Given the description of an element on the screen output the (x, y) to click on. 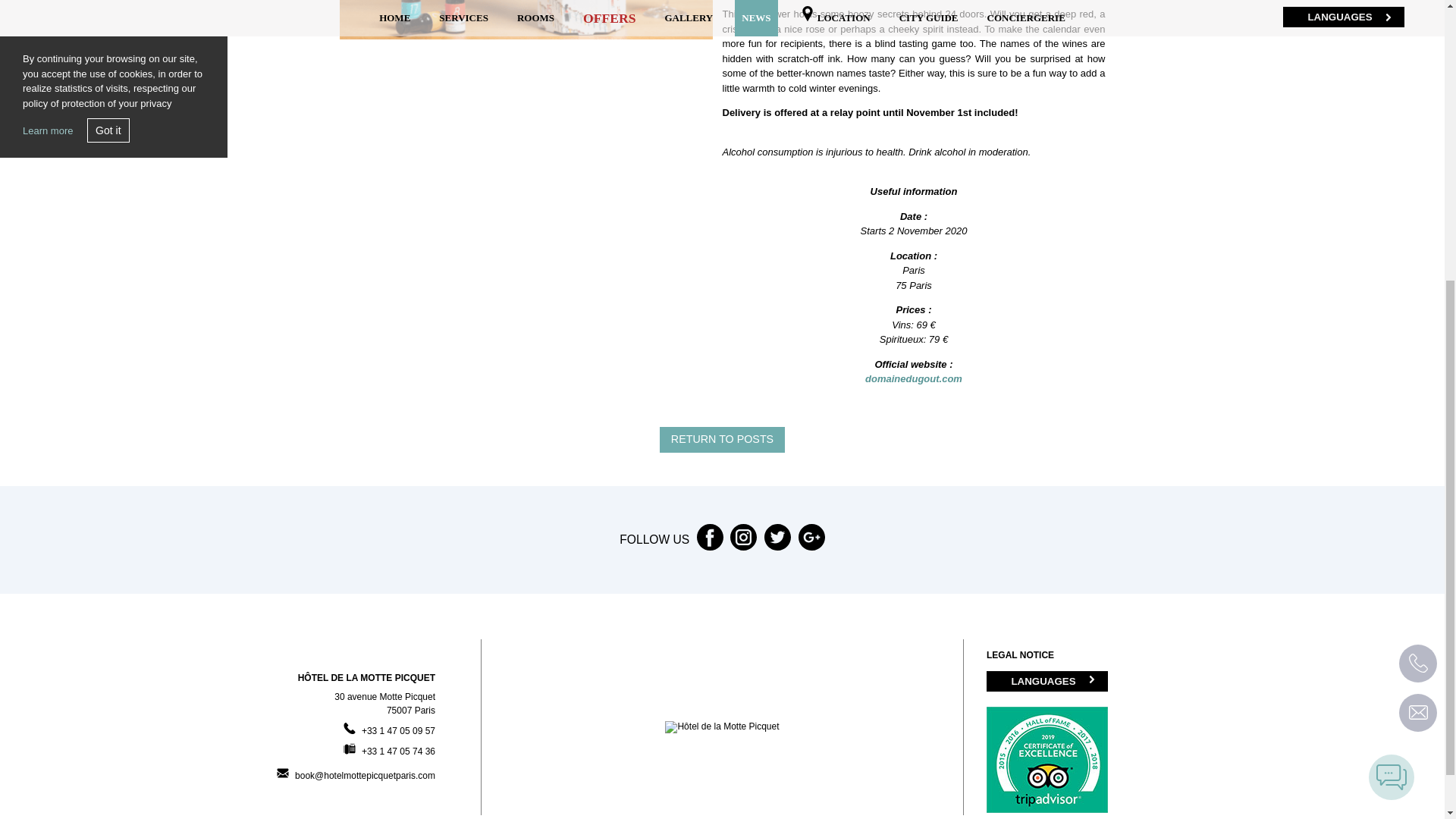
domainedugout.com (913, 378)
RETURN TO POSTS (722, 439)
